Given the description of an element on the screen output the (x, y) to click on. 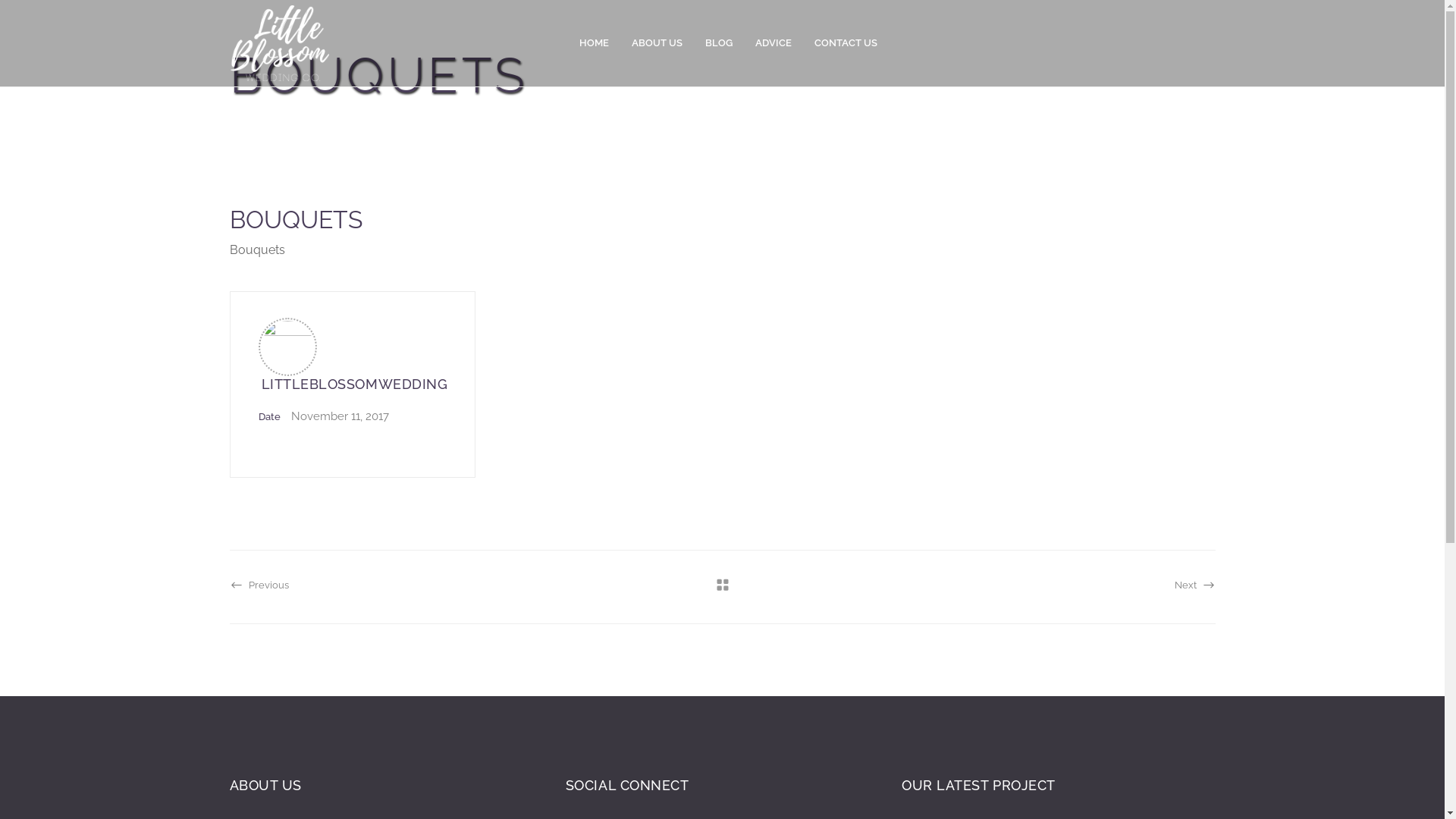
Previous Element type: text (258, 586)
Next Element type: text (1193, 589)
BLOG Element type: text (718, 43)
CONTACT US Element type: text (845, 43)
ADVICE Element type: text (773, 43)
HOME Element type: text (593, 43)
ABOUT US Element type: text (656, 43)
